Given the description of an element on the screen output the (x, y) to click on. 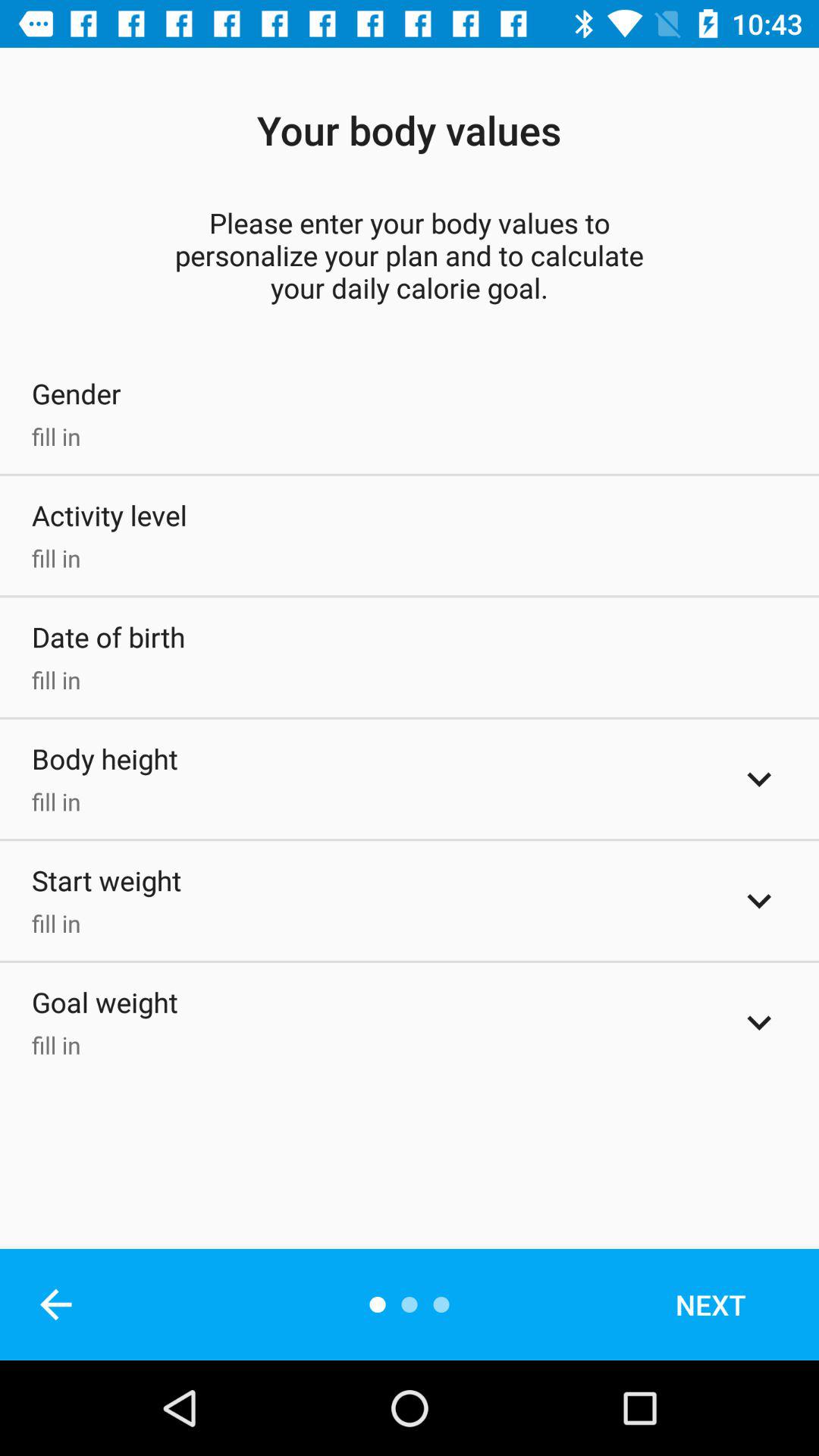
expands to show details (759, 778)
